Given the description of an element on the screen output the (x, y) to click on. 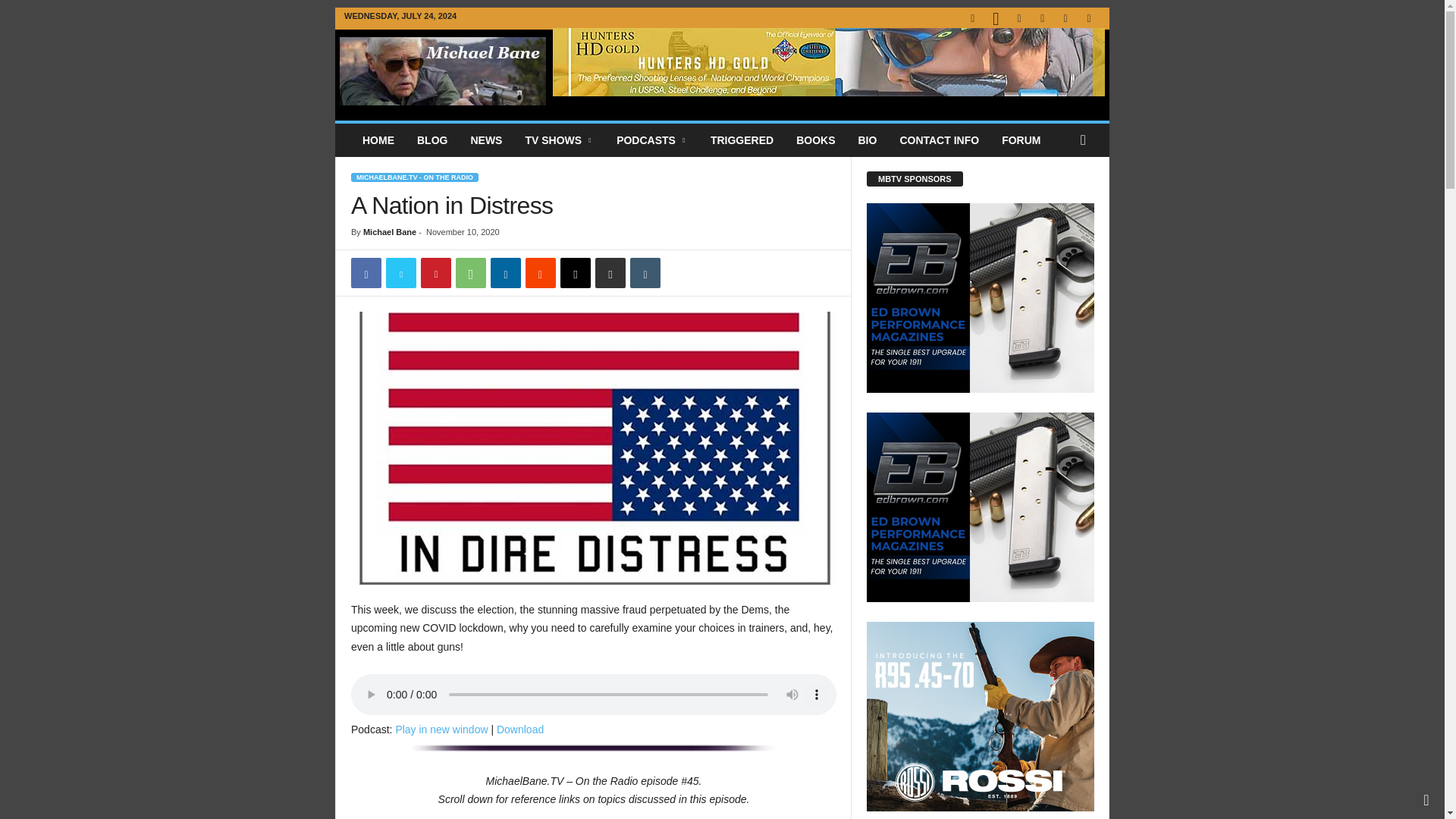
HOME (378, 140)
WhatsApp (470, 272)
Facebook (365, 272)
PODCASTS (651, 140)
MichaelBane.TV (442, 70)
Pinterest (435, 272)
NEWS (485, 140)
Twitter (400, 272)
TRIGGERED (741, 140)
BLOG (432, 140)
TV SHOWS (559, 140)
